Given the description of an element on the screen output the (x, y) to click on. 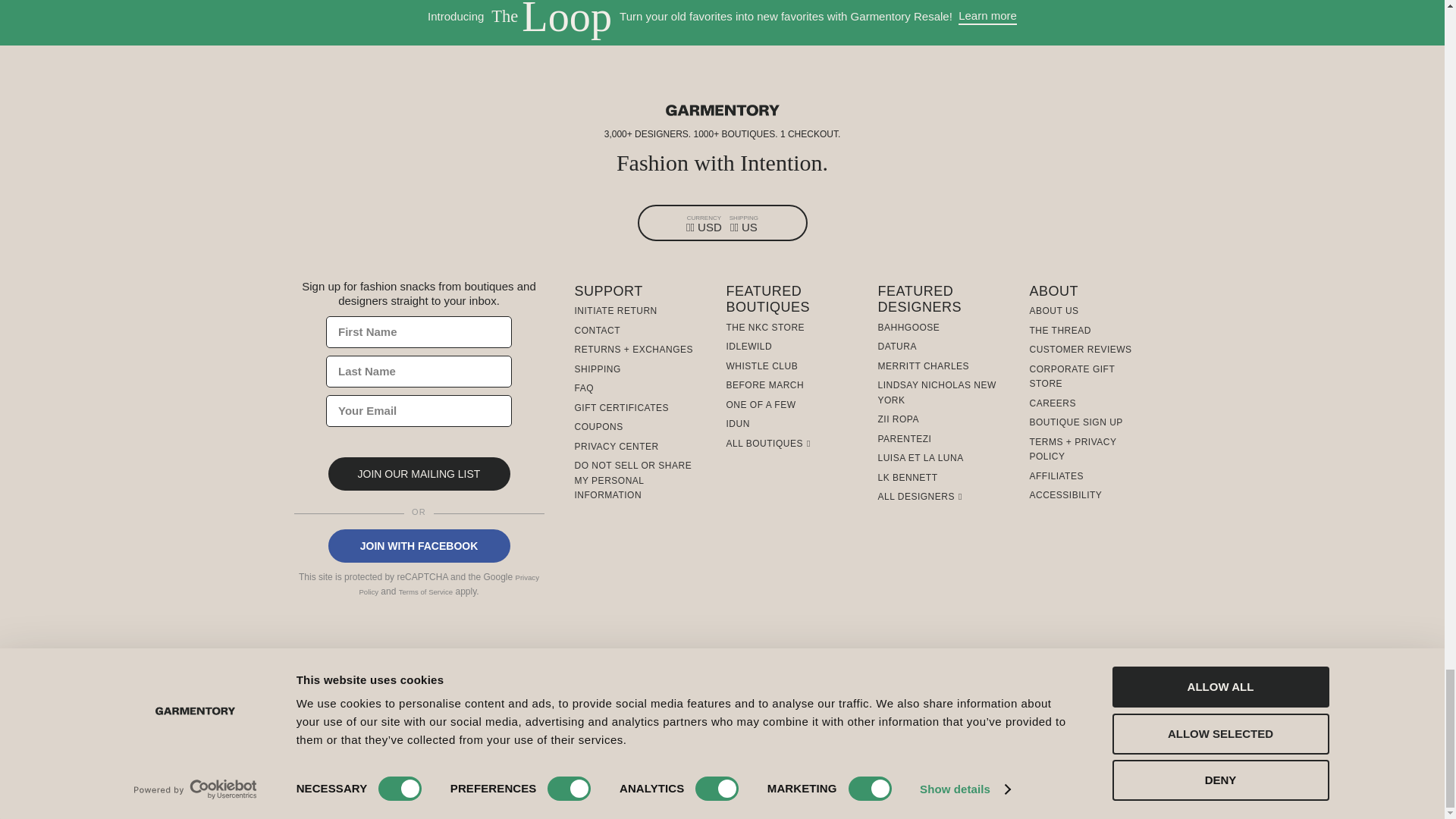
Join Our Mailing List (418, 473)
